Given the description of an element on the screen output the (x, y) to click on. 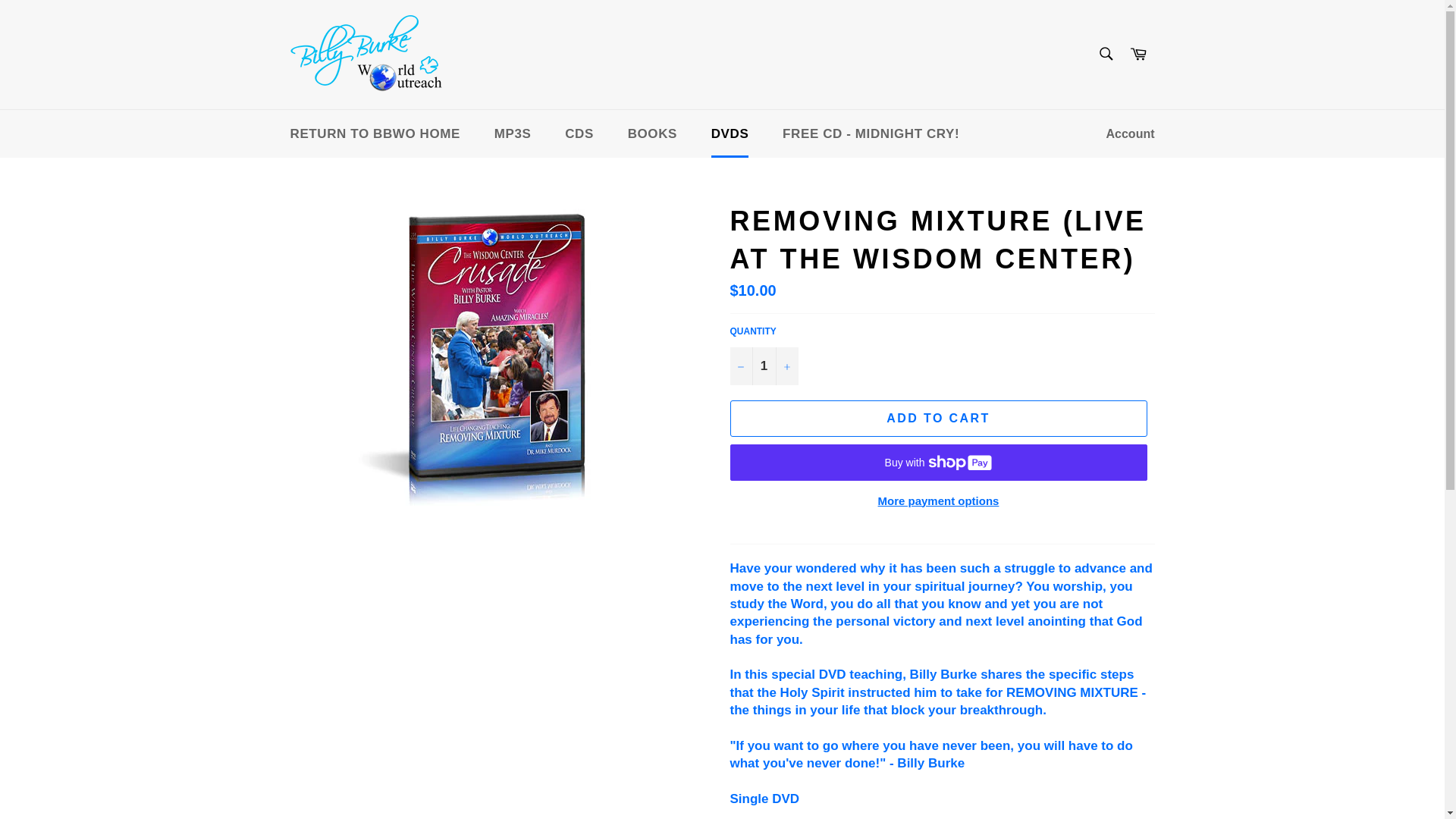
BOOKS (652, 133)
Search (1104, 53)
DVDS (729, 133)
Cart (1138, 54)
FREE CD - MIDNIGHT CRY! (870, 133)
ADD TO CART (938, 418)
1 (763, 365)
CDS (579, 133)
RETURN TO BBWO HOME (375, 133)
More payment options (938, 501)
MP3S (513, 133)
Account (1129, 134)
